Given the description of an element on the screen output the (x, y) to click on. 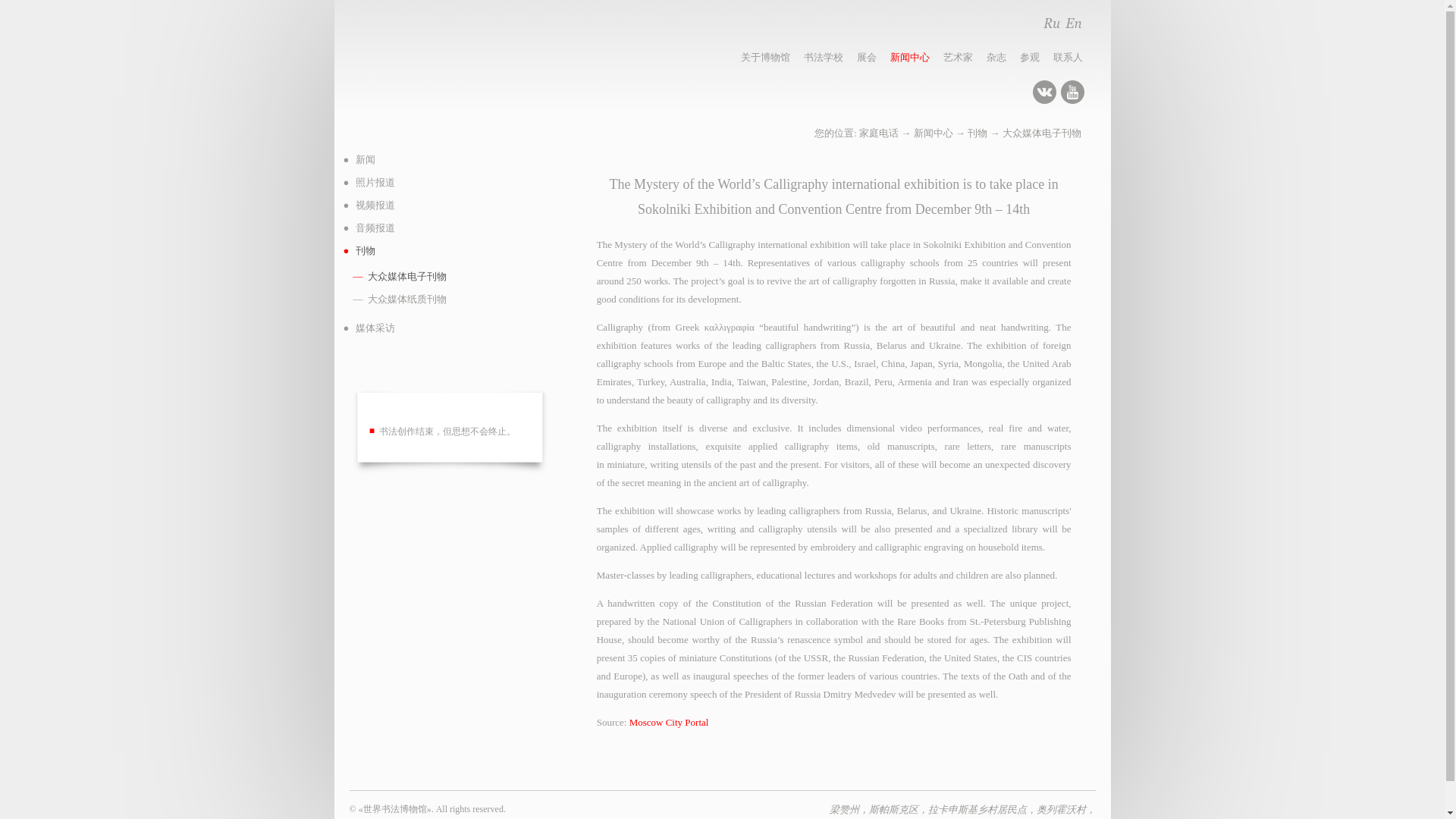
Contemporary Museum of Calligraphy on Youtube (1073, 92)
